Given the description of an element on the screen output the (x, y) to click on. 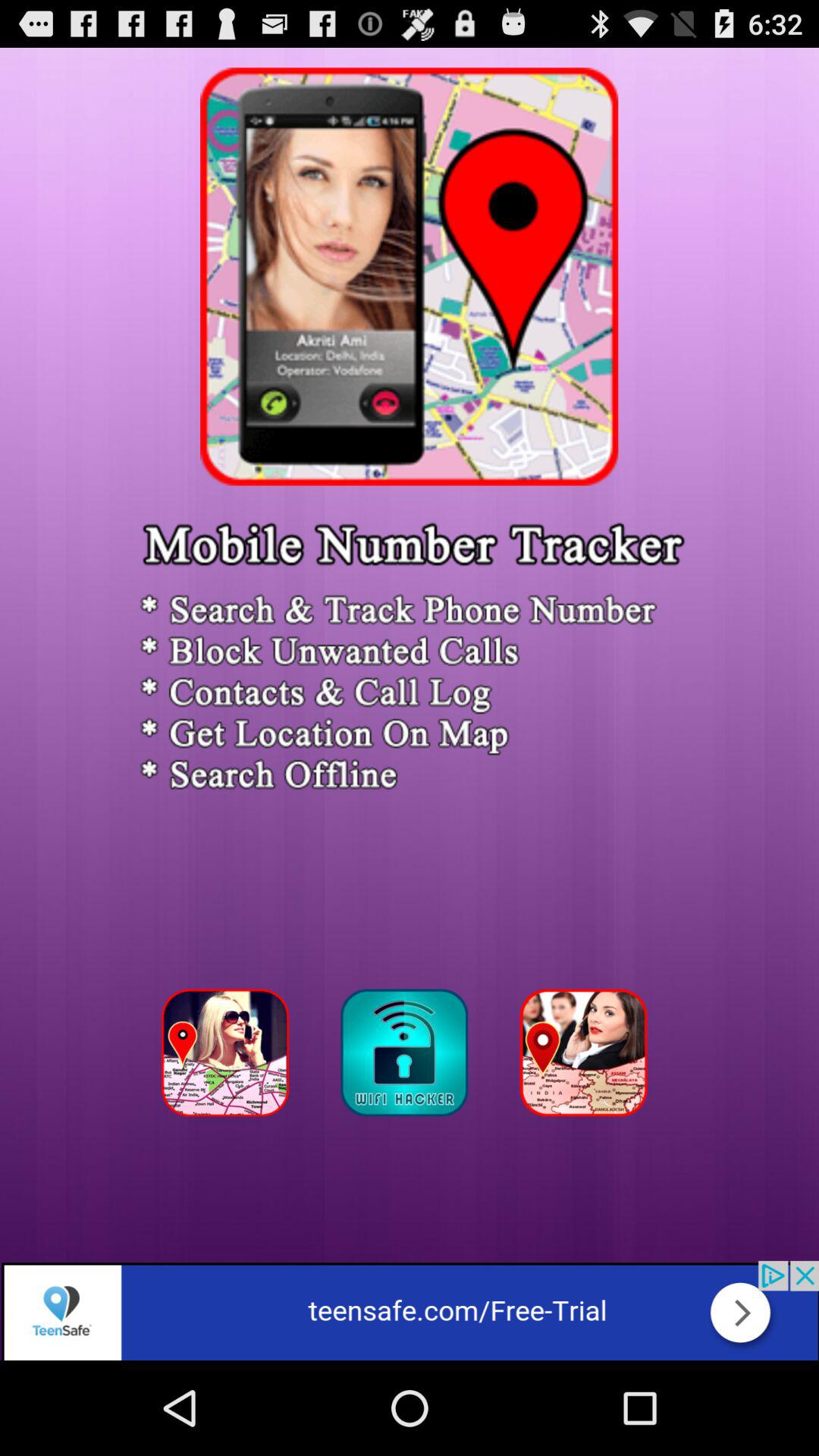
advertisement link (409, 1310)
